Given the description of an element on the screen output the (x, y) to click on. 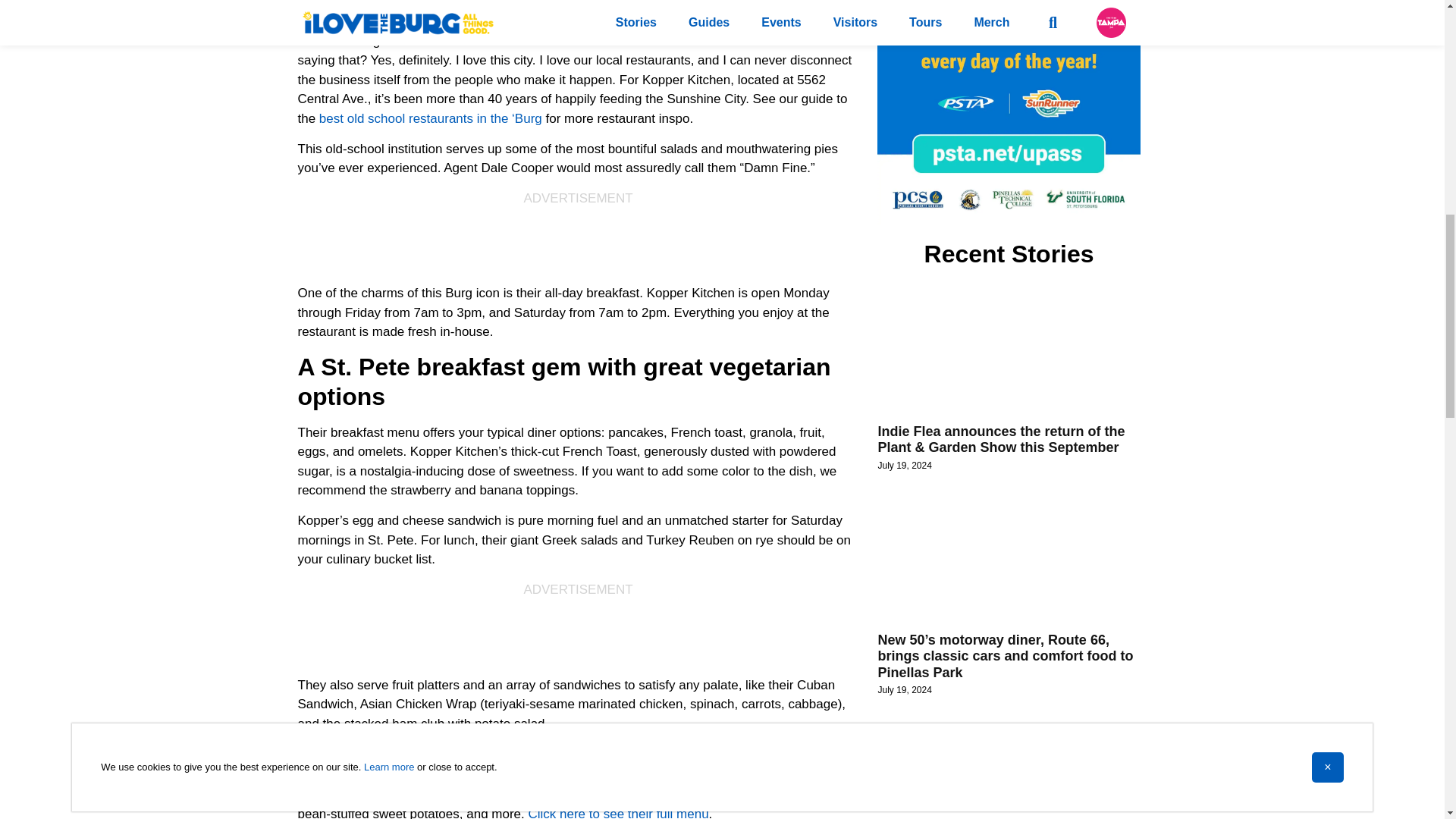
Link opens in a new window. (429, 118)
Link opens an external site in a new window. (578, 25)
Link opens an external site. (617, 812)
